Given the description of an element on the screen output the (x, y) to click on. 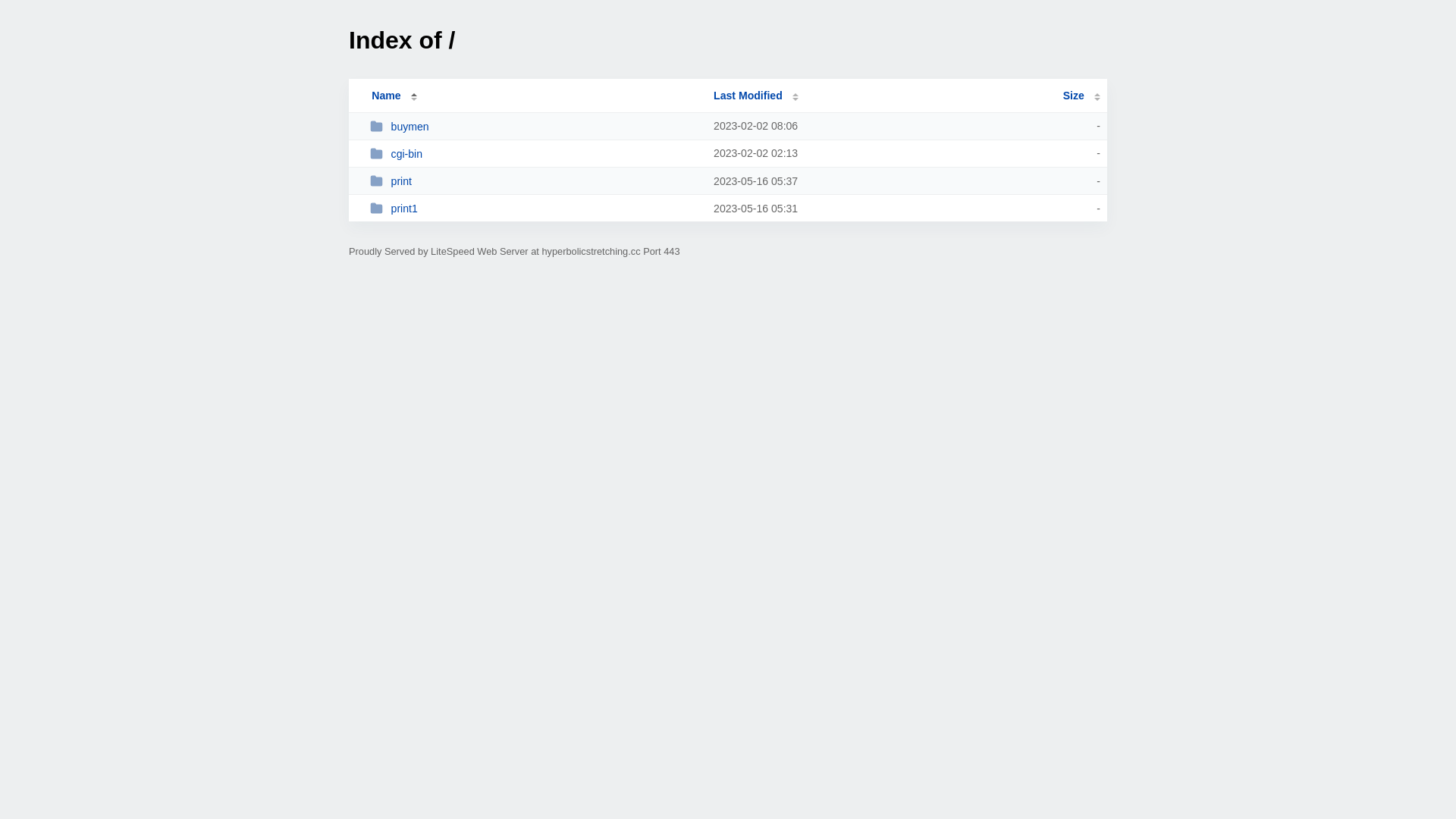
print Element type: text (534, 180)
cgi-bin Element type: text (534, 153)
Last Modified Element type: text (755, 95)
buymen Element type: text (534, 125)
Size Element type: text (1081, 95)
Name Element type: text (385, 95)
print1 Element type: text (534, 207)
